Given the description of an element on the screen output the (x, y) to click on. 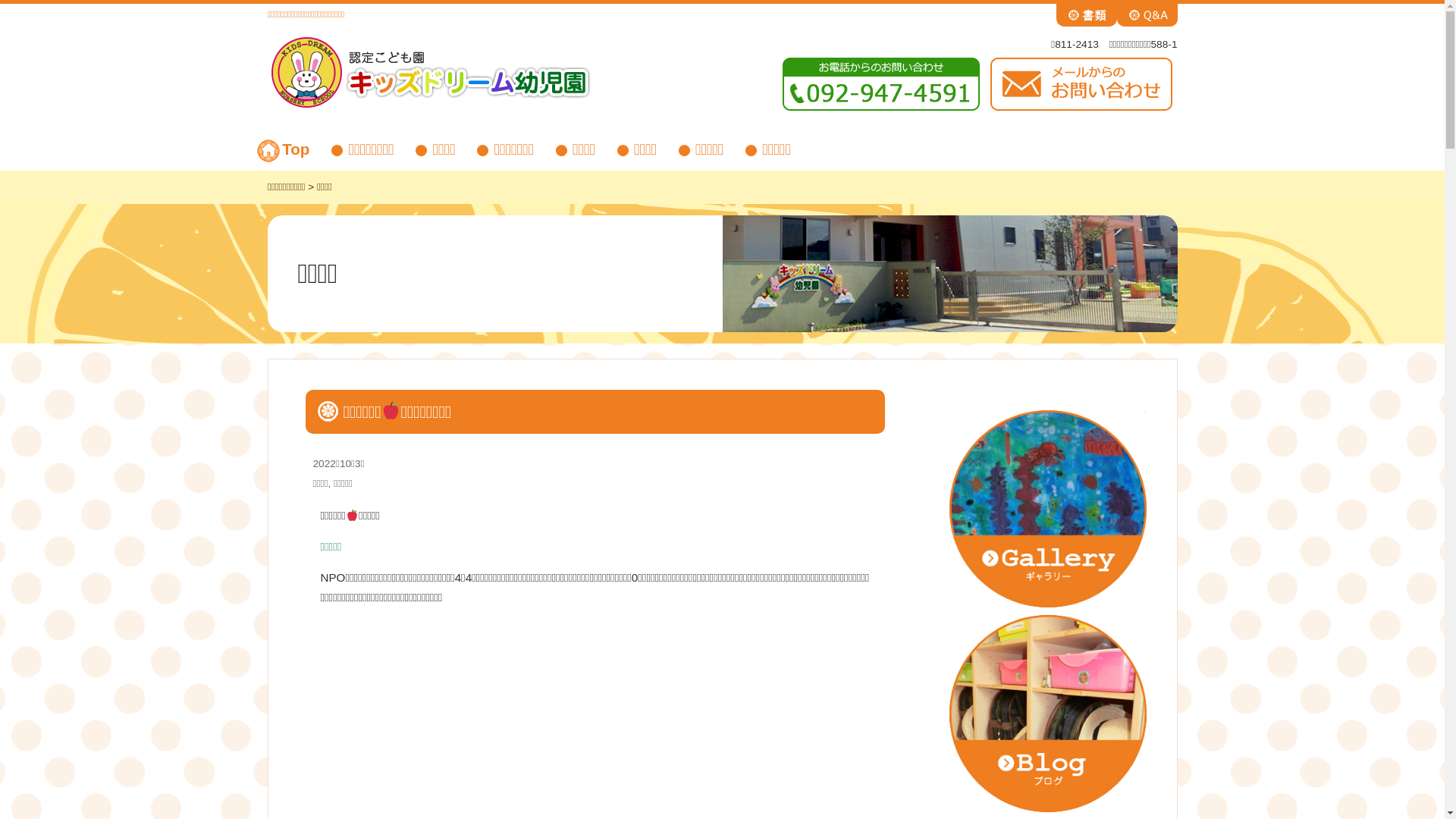
Top Element type: text (306, 149)
Q&A Element type: hover (1146, 13)
